Given the description of an element on the screen output the (x, y) to click on. 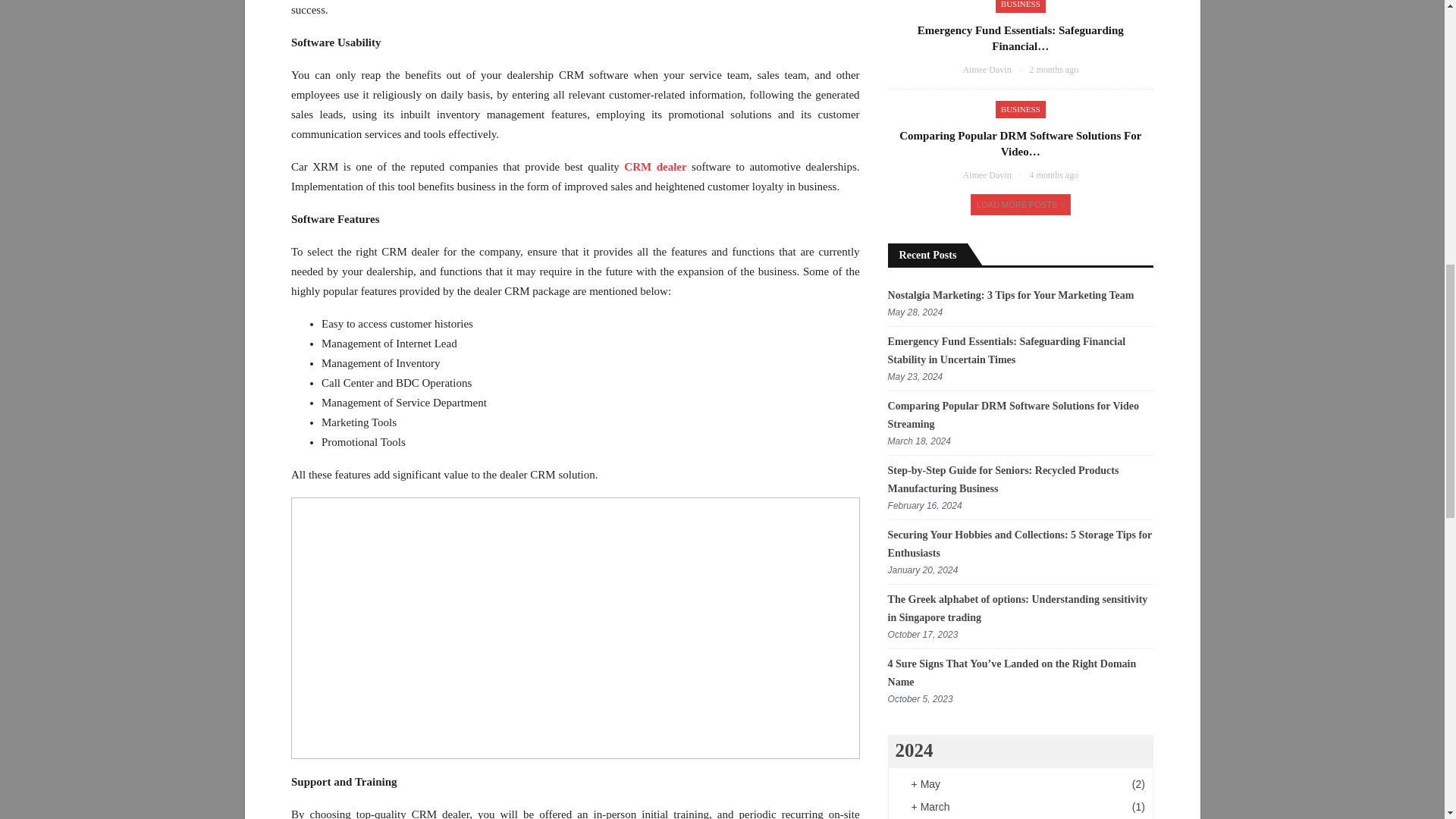
CRM dealer (654, 166)
